Given the description of an element on the screen output the (x, y) to click on. 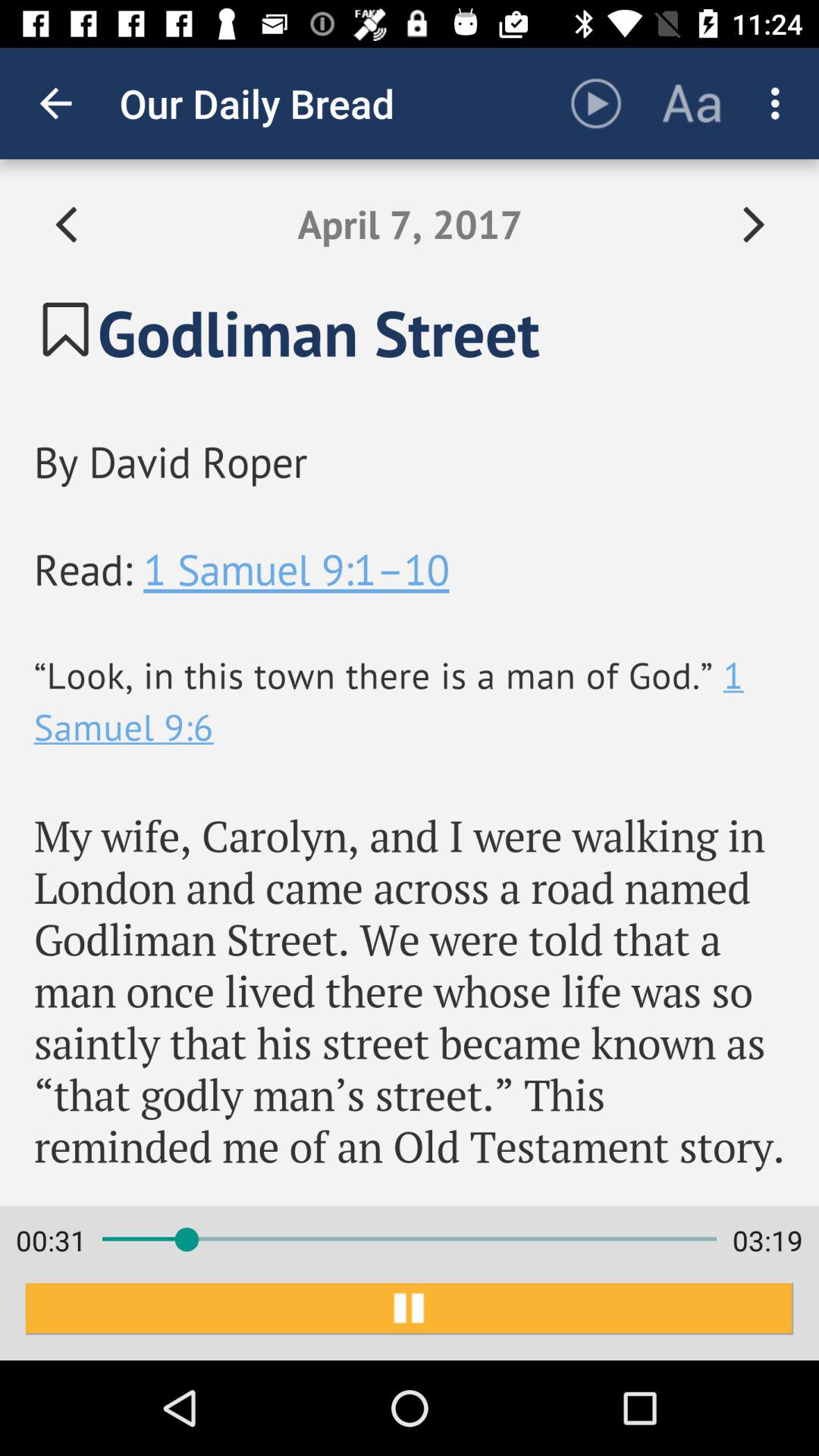
open app to the right of the our daily bread icon (595, 103)
